Given the description of an element on the screen output the (x, y) to click on. 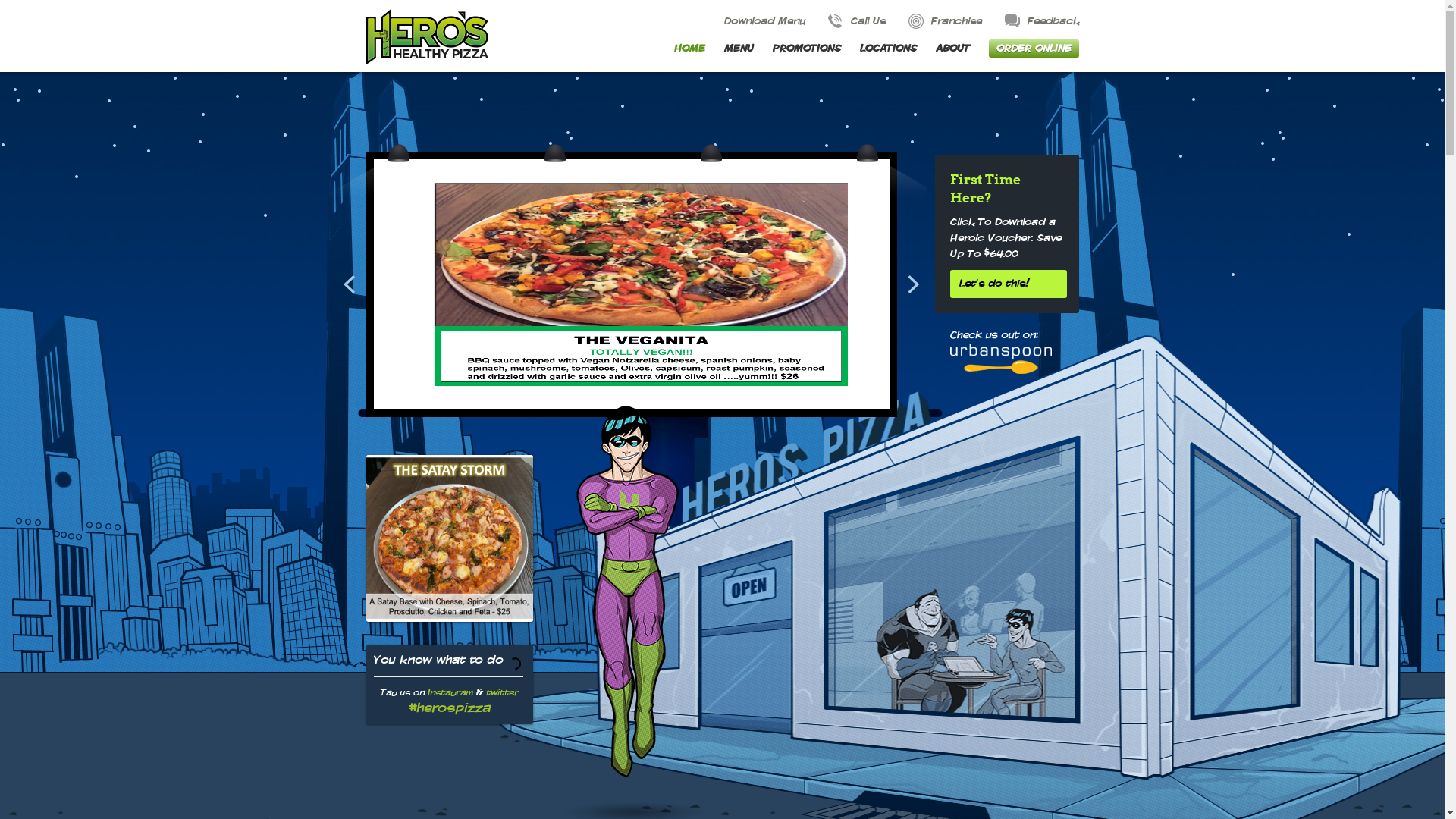
Call Us Element type: text (856, 21)
Prev Element type: text (348, 284)
ORDER ONLINE Element type: text (1033, 48)
LOCATIONS Element type: text (887, 48)
HOME Element type: text (688, 48)
Next Element type: text (912, 284)
Hero's Healthy Pizza Element type: text (426, 36)
ABOUT Element type: text (952, 48)
View Full Menu Element type: text (449, 598)
View Promotions Element type: text (449, 568)
PROMOTIONS Element type: text (805, 48)
Check us out on urbanspoon Element type: text (1000, 351)
MENU Element type: text (738, 48)
Feedback Element type: text (1041, 21)
Franchise Element type: text (945, 21)
Download Menu Element type: text (752, 21)
